Given the description of an element on the screen output the (x, y) to click on. 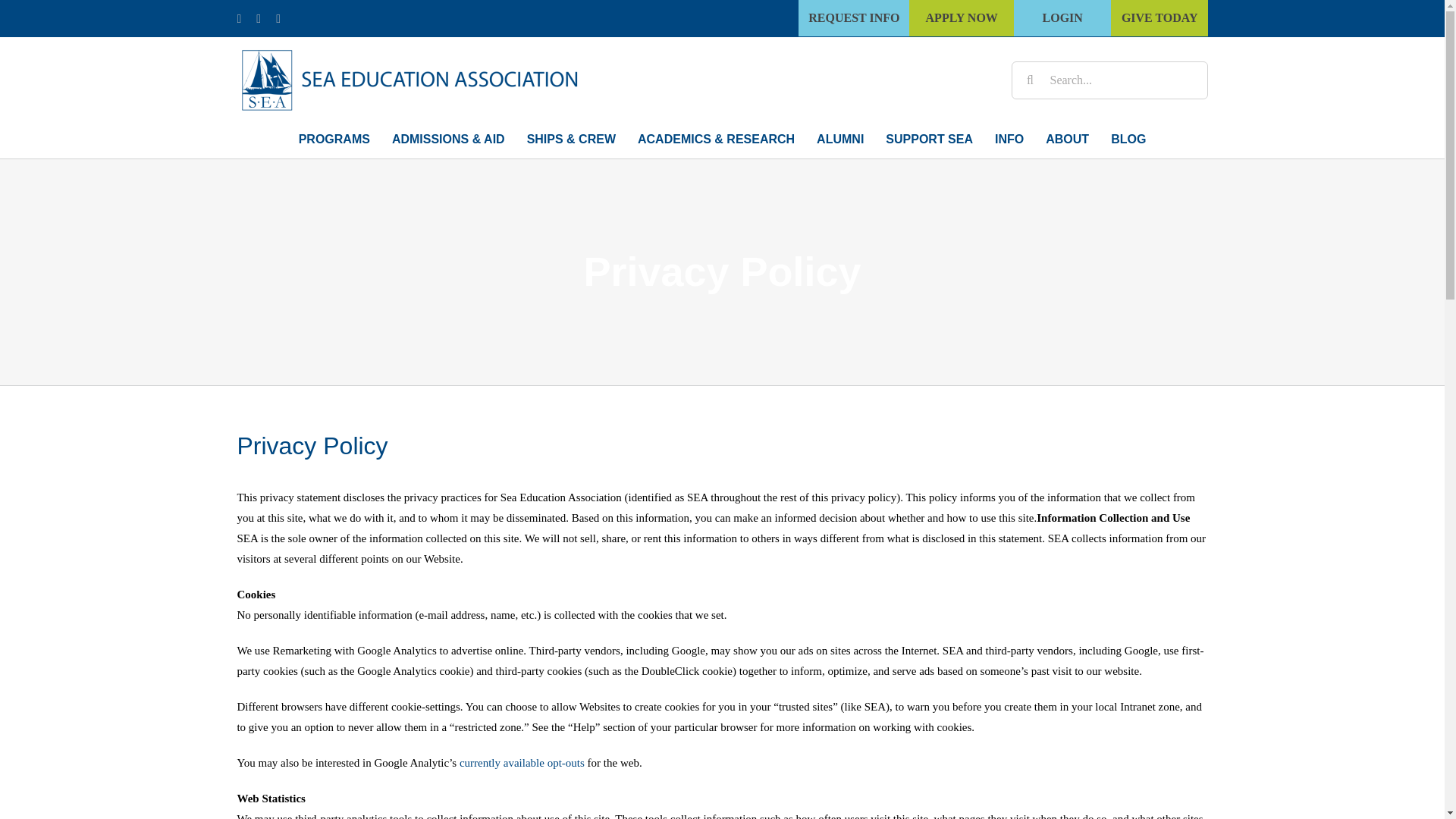
PROGRAMS (333, 139)
YouTube (278, 18)
      LOGIN       (1062, 18)
  APPLY NOW   (961, 18)
Instagram (258, 18)
Facebook (238, 18)
Facebook (238, 18)
Instagram (258, 18)
REQUEST INFO (852, 18)
GIVE TODAY (1160, 18)
YouTube (278, 18)
